Given the description of an element on the screen output the (x, y) to click on. 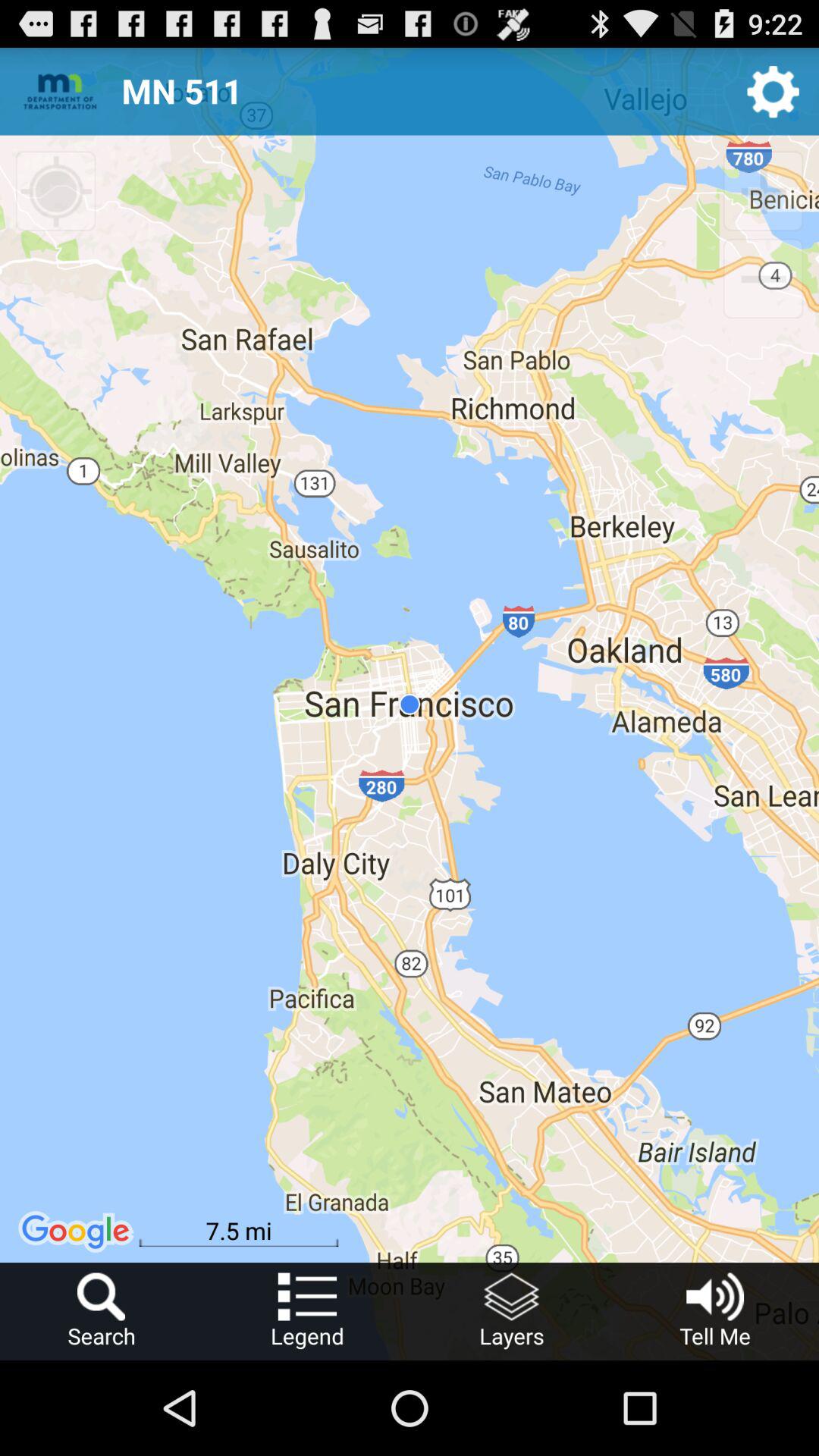
click the item at the center (409, 703)
